Given the description of an element on the screen output the (x, y) to click on. 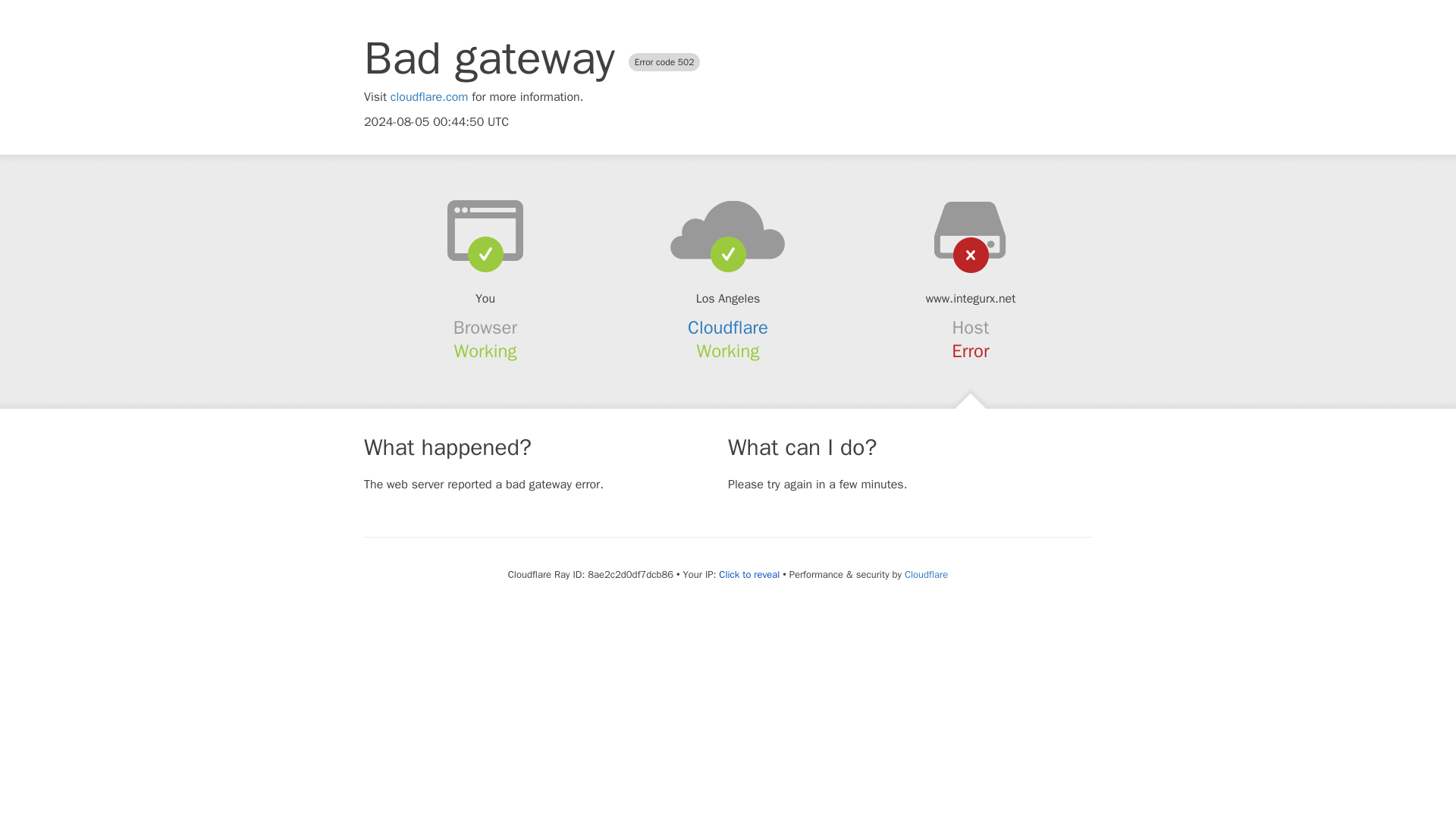
Click to reveal (748, 574)
Cloudflare (727, 327)
cloudflare.com (429, 96)
Cloudflare (925, 574)
